Given the description of an element on the screen output the (x, y) to click on. 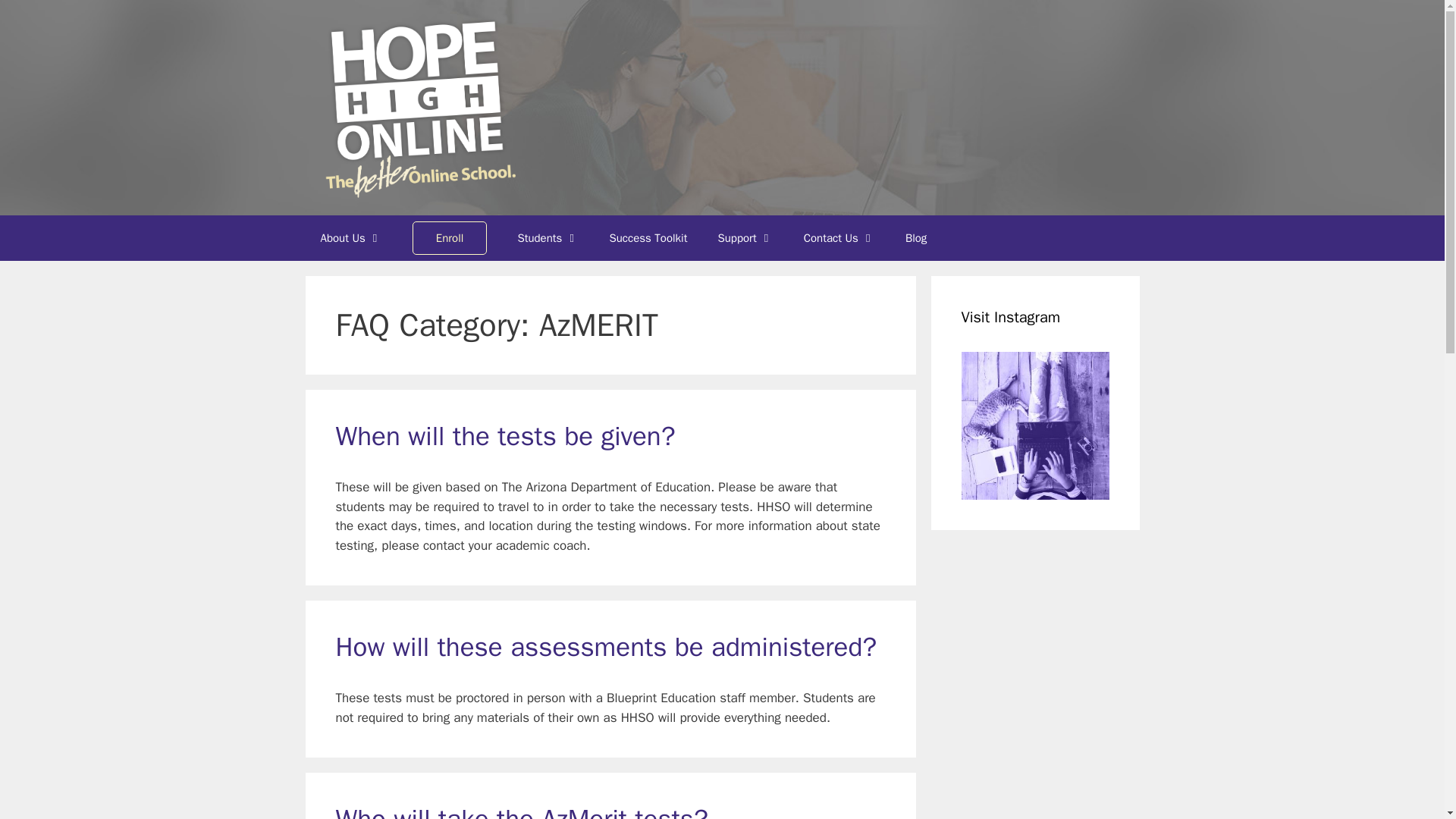
About Us (350, 238)
Students (548, 238)
Enroll (449, 238)
